Given the description of an element on the screen output the (x, y) to click on. 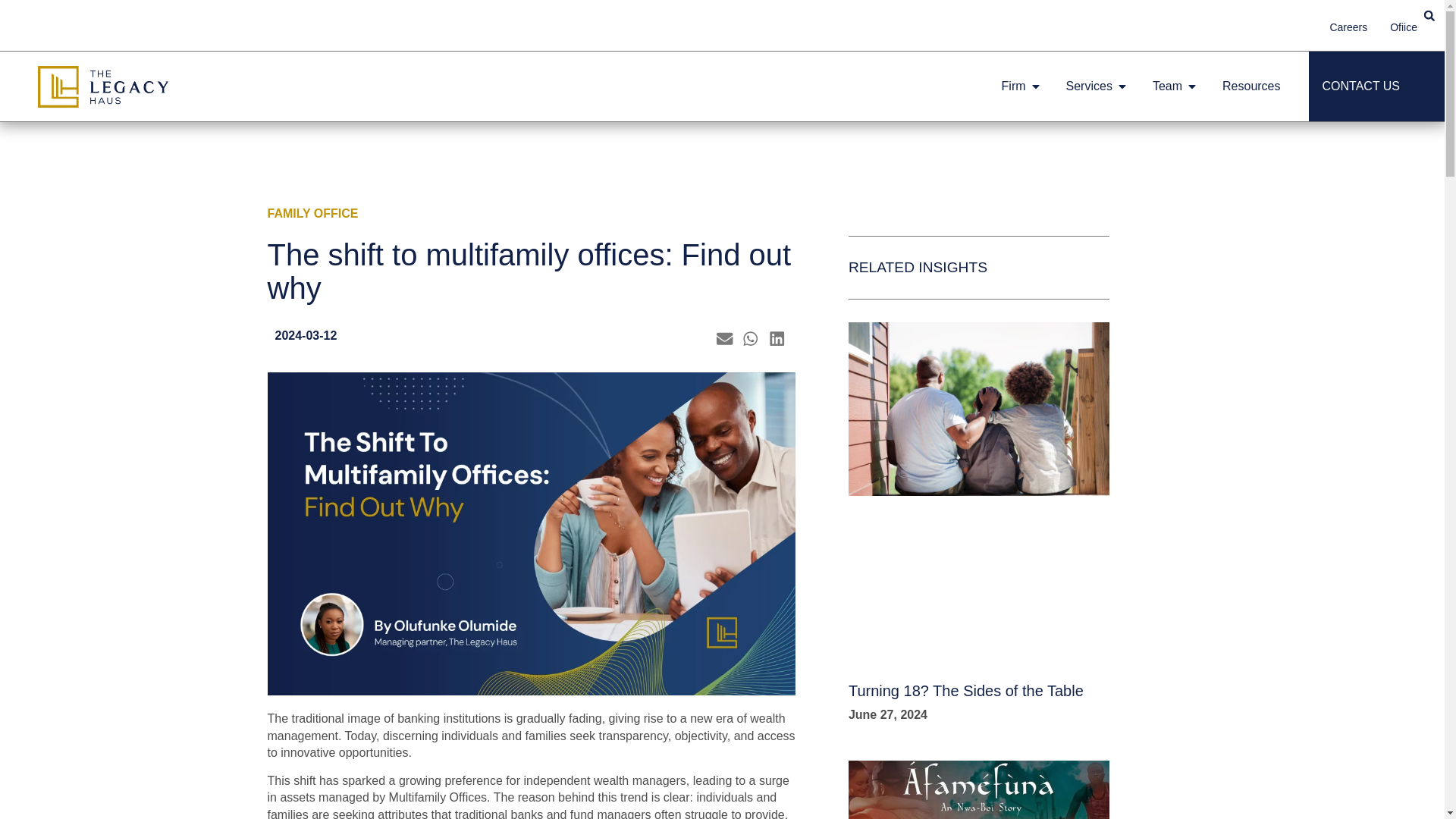
Ofiice (1403, 28)
Careers (1348, 28)
Resources (1251, 85)
The Legacy Haus (102, 86)
